Given the description of an element on the screen output the (x, y) to click on. 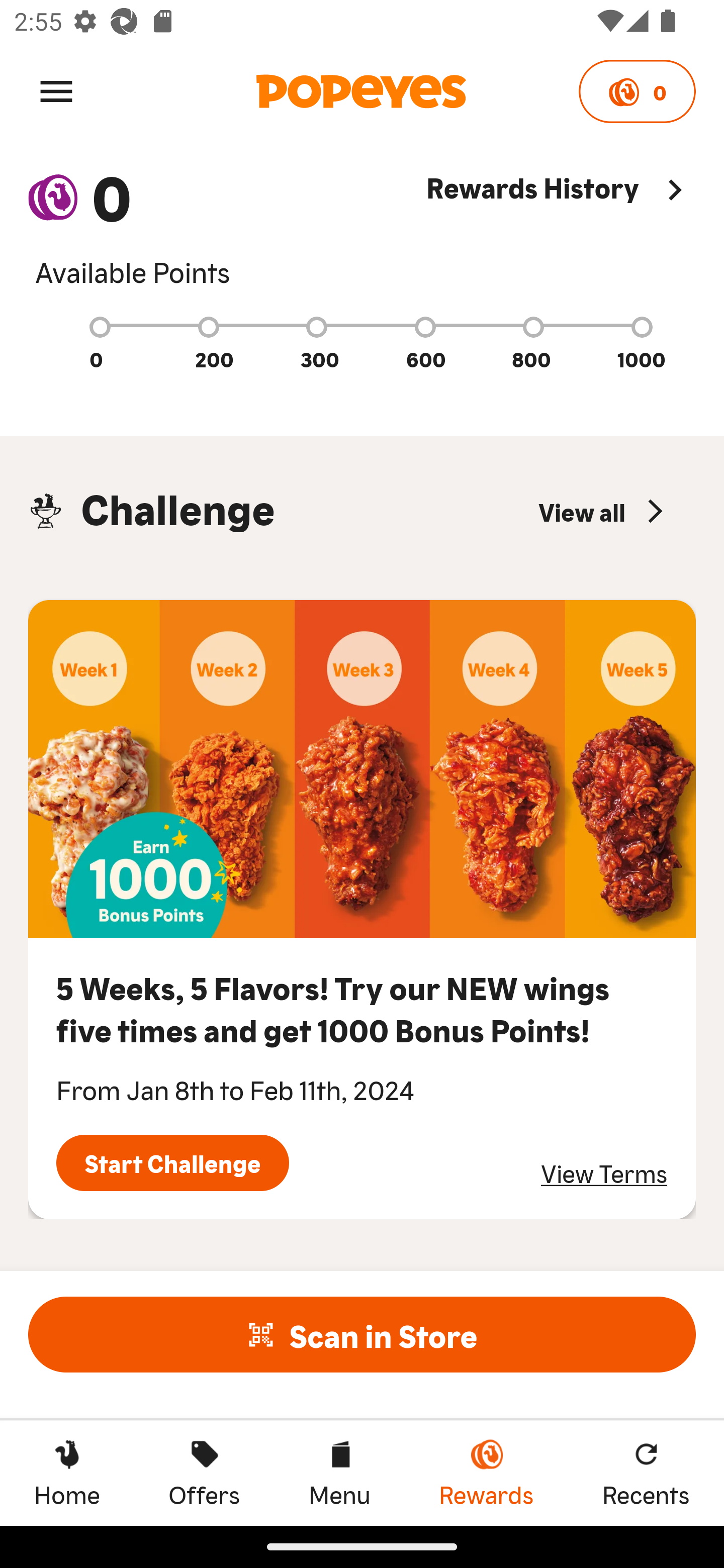
Menu  (56, 90)
0 Points 0 (636, 91)
Rewards History Rewards History  (560, 228)
View all (602, 511)
quest image (361, 768)
Start Challenge (172, 1163)
View Terms (603, 1172)
Scan in Store  Scan in Store (361, 1334)
Home Home Home (66, 1472)
Offers Offers Offers (203, 1472)
Menu Menu Menu (339, 1472)
Recents Recents Recents (646, 1472)
